Given the description of an element on the screen output the (x, y) to click on. 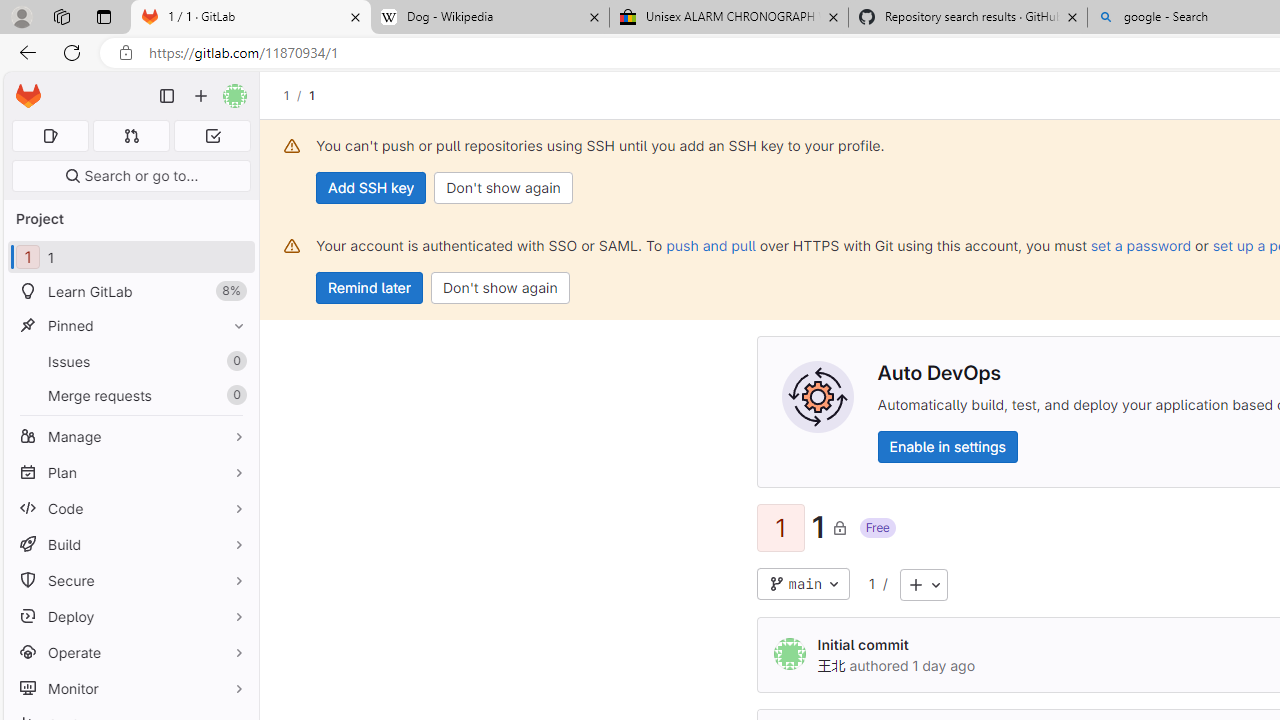
Add SSH key (371, 187)
1 (872, 583)
Issues0 (130, 361)
Merge requests 0 (131, 136)
Initial commit (862, 644)
Learn GitLab8% (130, 291)
Pinned (130, 325)
1 1 (130, 257)
main (803, 583)
Homepage (27, 96)
Manage (130, 435)
